Given the description of an element on the screen output the (x, y) to click on. 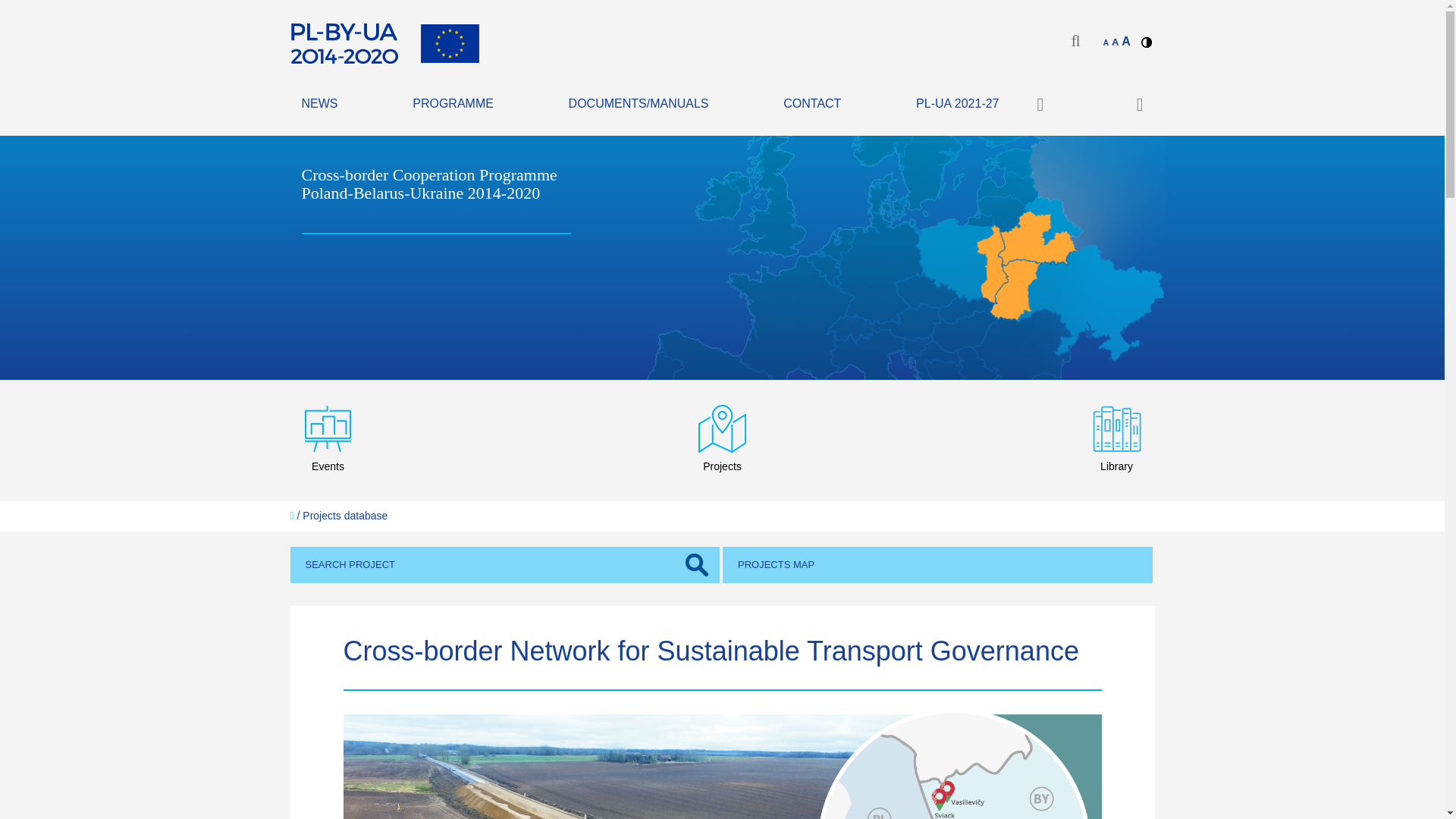
Library (1116, 440)
SEARCH PROJECT (504, 565)
Projects database (344, 515)
Events (327, 440)
NEWS (319, 104)
PROJECTS MAP (937, 565)
Projects (722, 440)
PROGRAMME (452, 104)
CONTACT (812, 104)
PL-UA 2021-27 (956, 104)
